Given the description of an element on the screen output the (x, y) to click on. 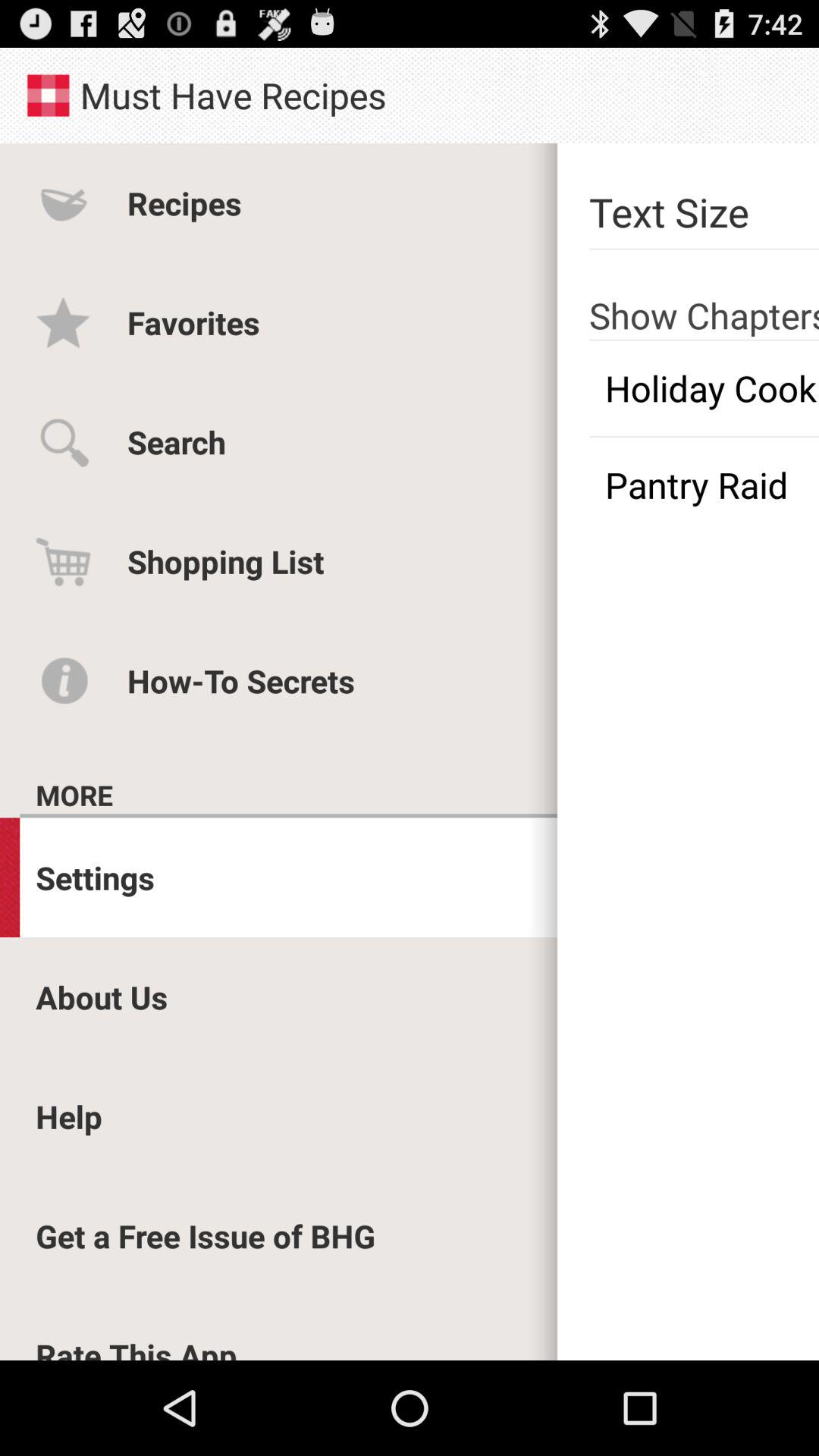
scroll until holiday cooking item (704, 388)
